Given the description of an element on the screen output the (x, y) to click on. 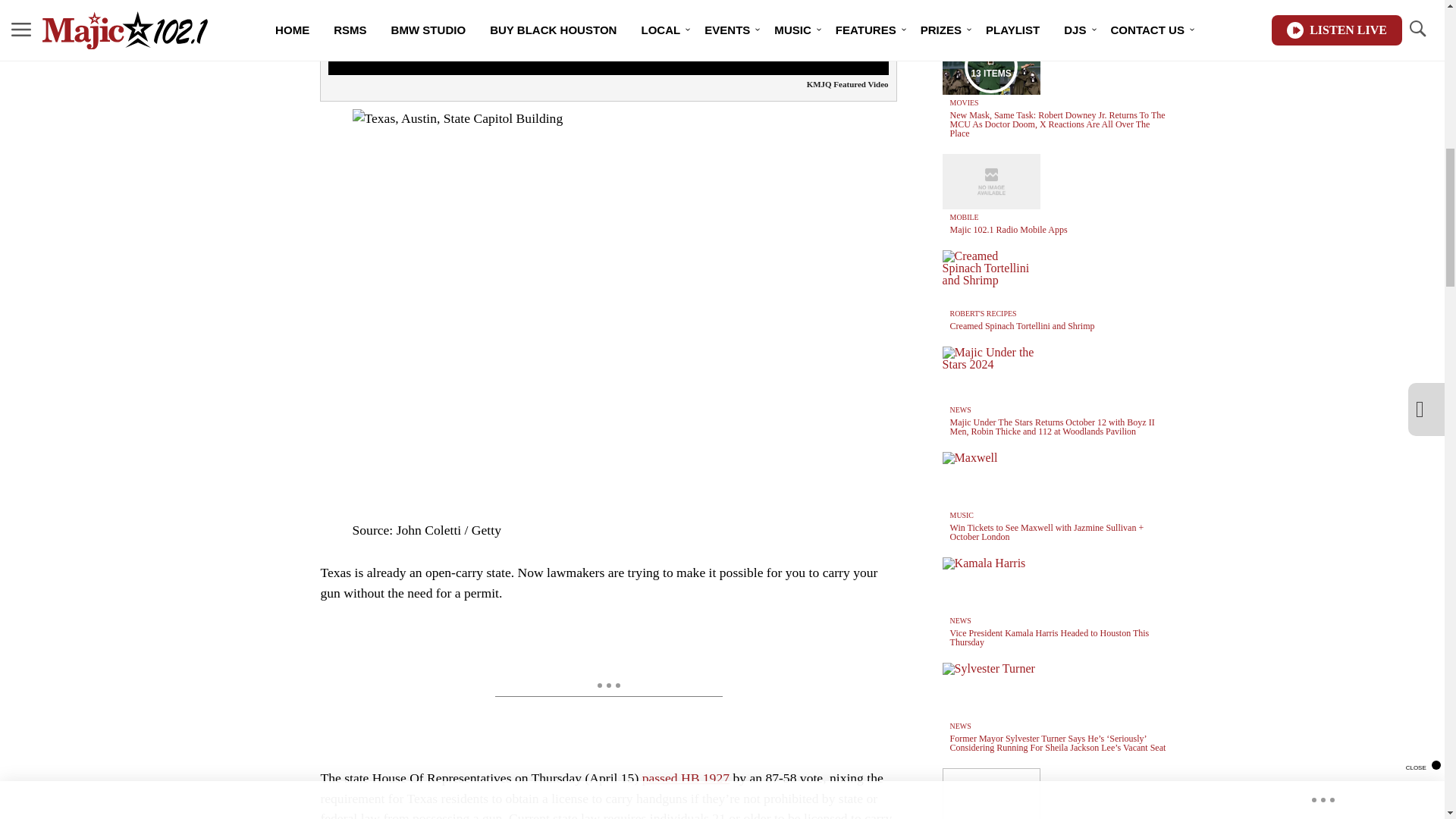
Media Playlist (990, 66)
